Given the description of an element on the screen output the (x, y) to click on. 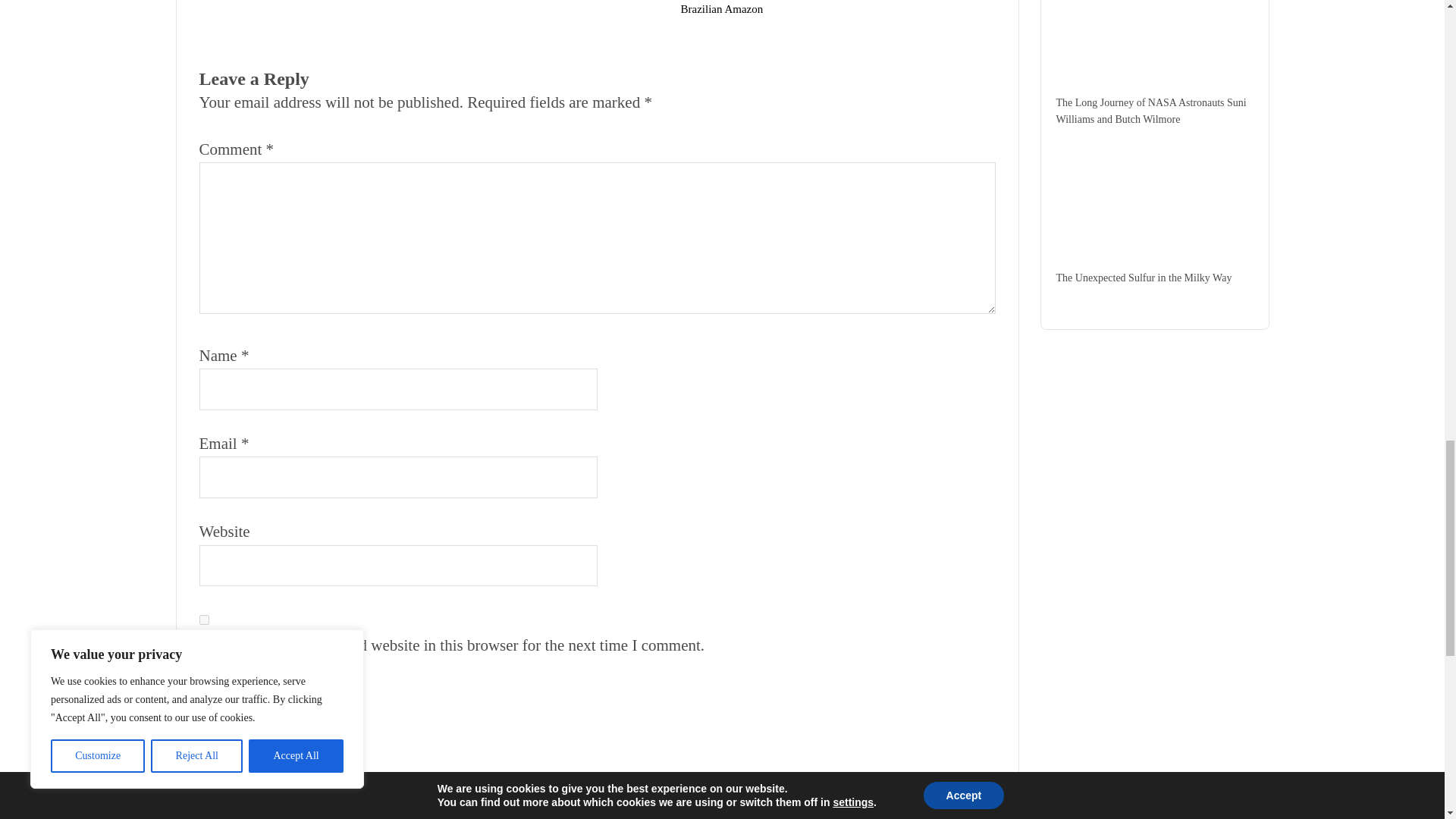
yes (203, 619)
Post Comment (259, 699)
